Given the description of an element on the screen output the (x, y) to click on. 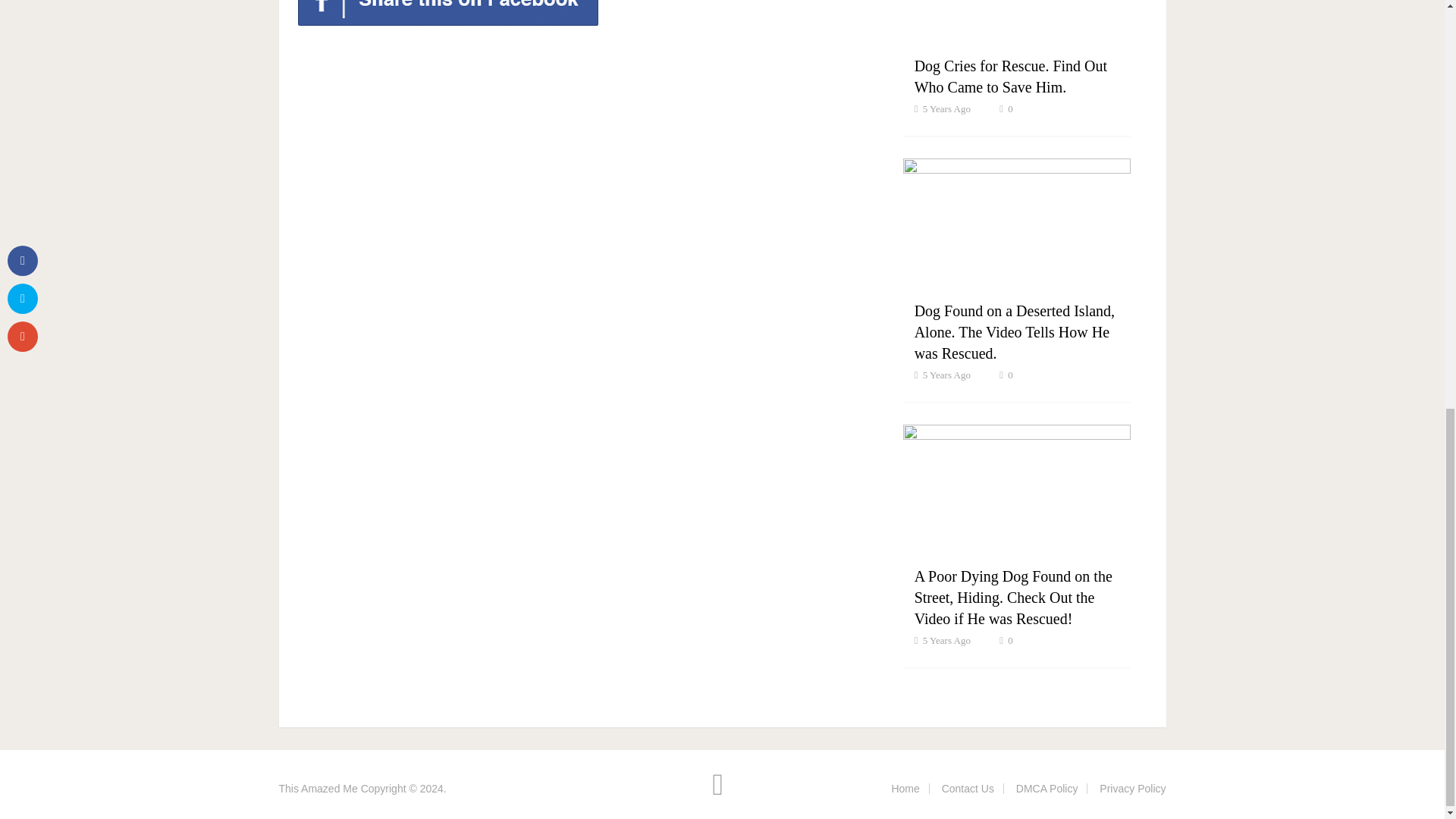
Dog Cries for Rescue. Find Out Who Came to Save Him. (1010, 76)
Home (904, 788)
Privacy Policy (1132, 788)
This Amazed Me (318, 788)
Things That Amazes You, Inspires You! (318, 788)
DMCA Policy (1047, 788)
